Given the description of an element on the screen output the (x, y) to click on. 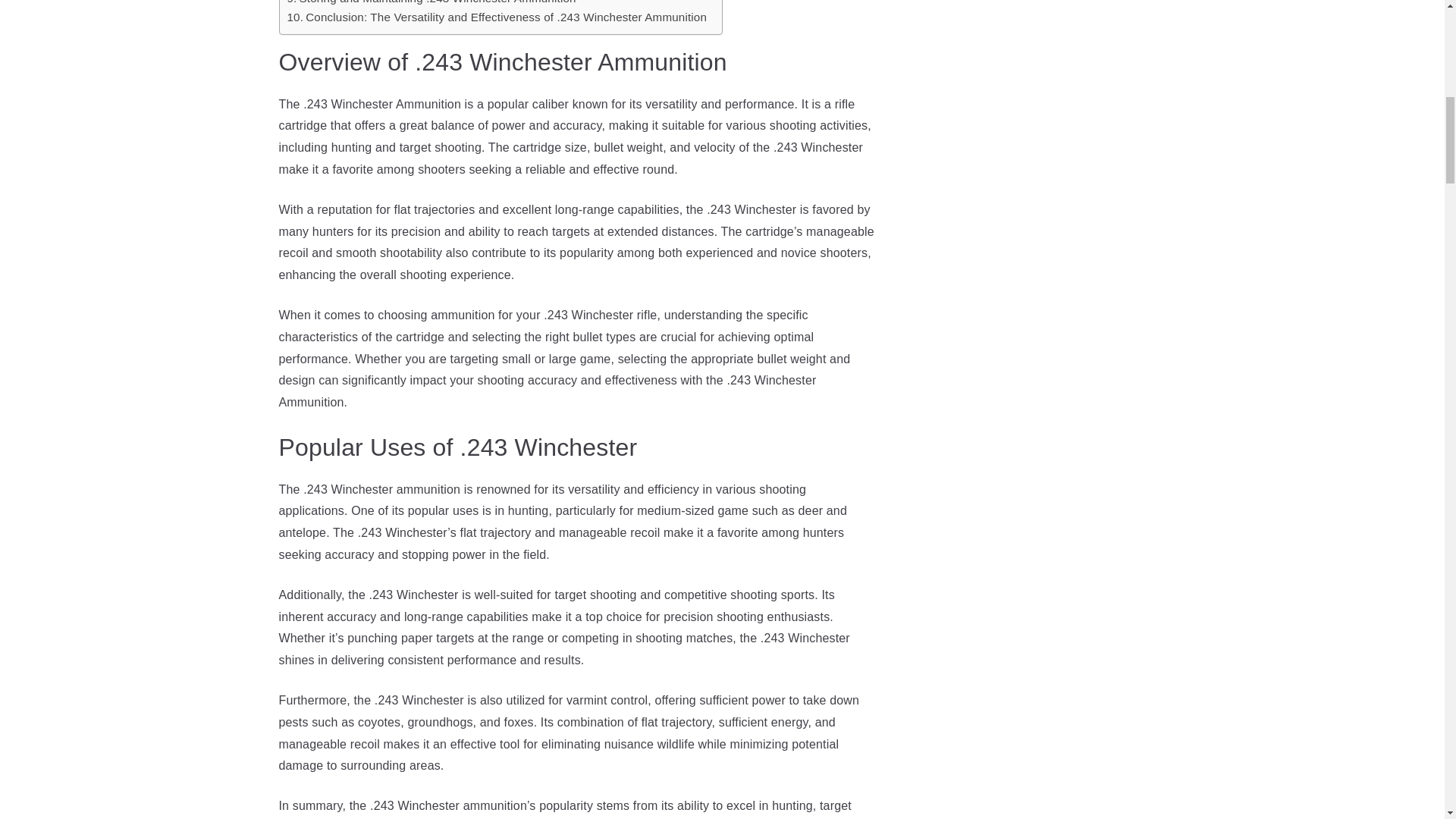
Storing and Maintaining .243 Winchester Ammunition (430, 3)
Storing and Maintaining .243 Winchester Ammunition (430, 3)
